Given the description of an element on the screen output the (x, y) to click on. 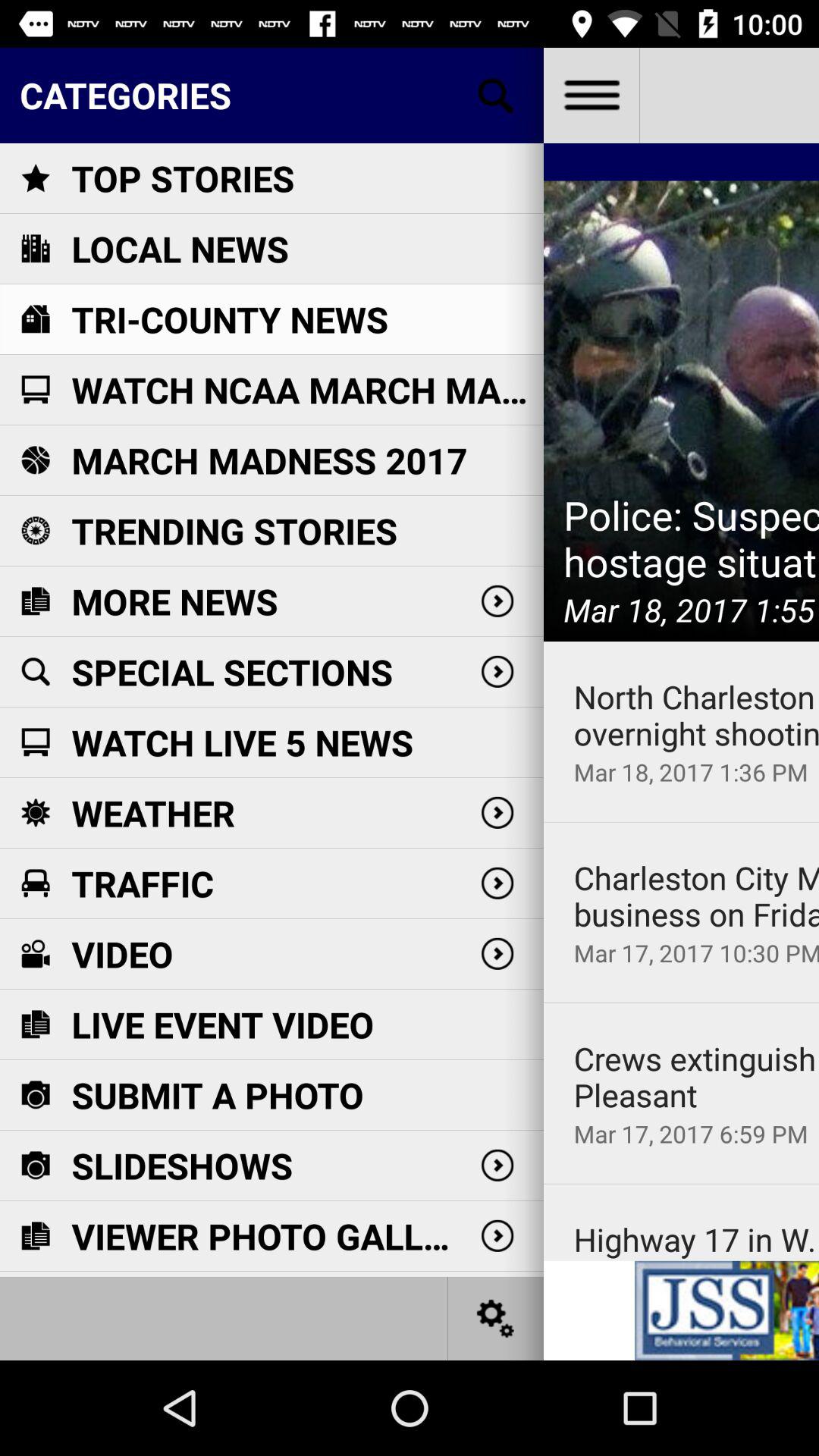
open settings (495, 1318)
